Given the description of an element on the screen output the (x, y) to click on. 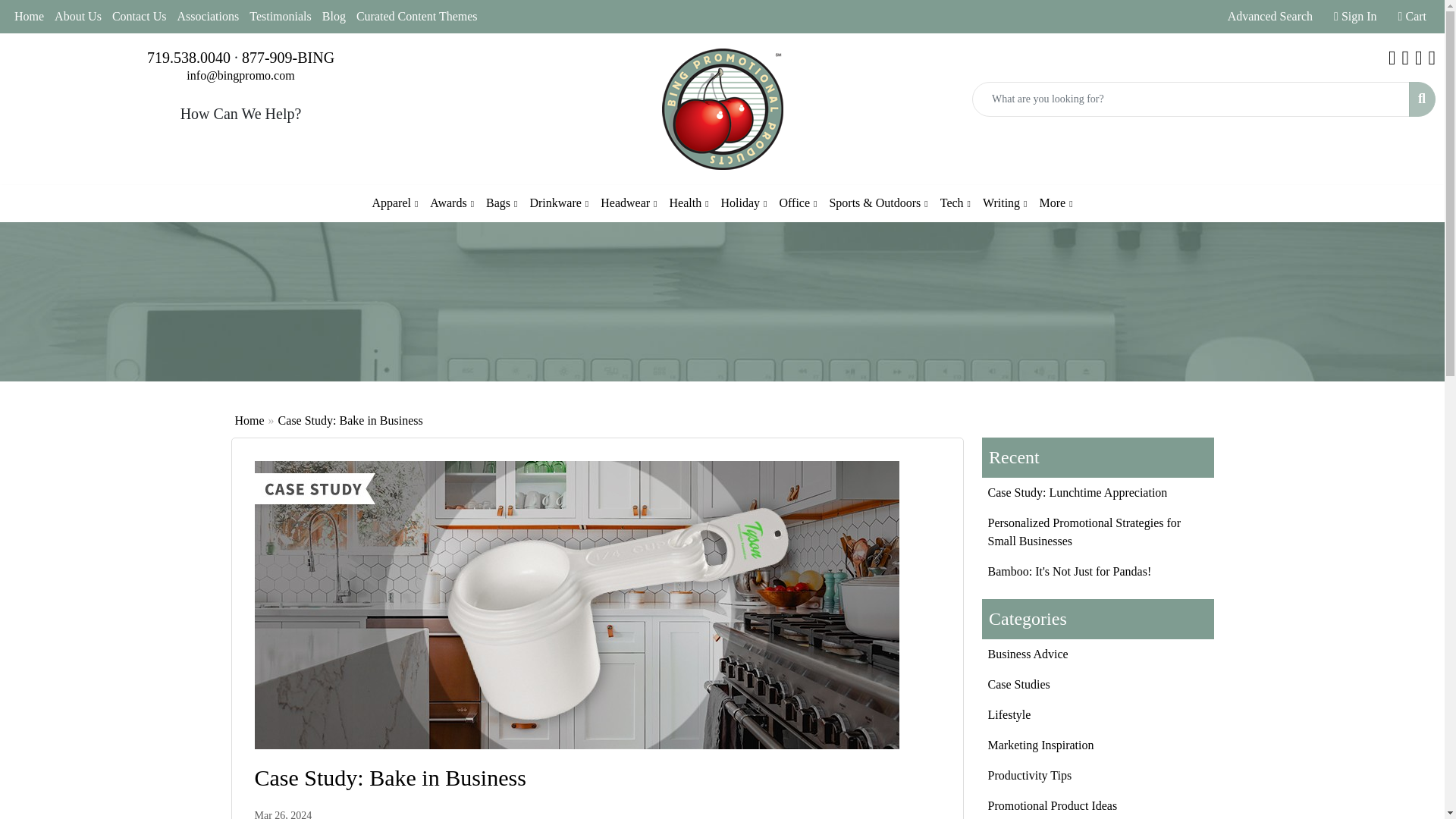
Curated Content Themes (416, 16)
Advanced Search (1270, 16)
Associations (207, 16)
719.538.0040 (188, 57)
Blog (333, 16)
Testimonials (280, 16)
Apparel (394, 203)
877-909-BING (287, 57)
Contact Us (138, 16)
Cart (1412, 16)
